Given the description of an element on the screen output the (x, y) to click on. 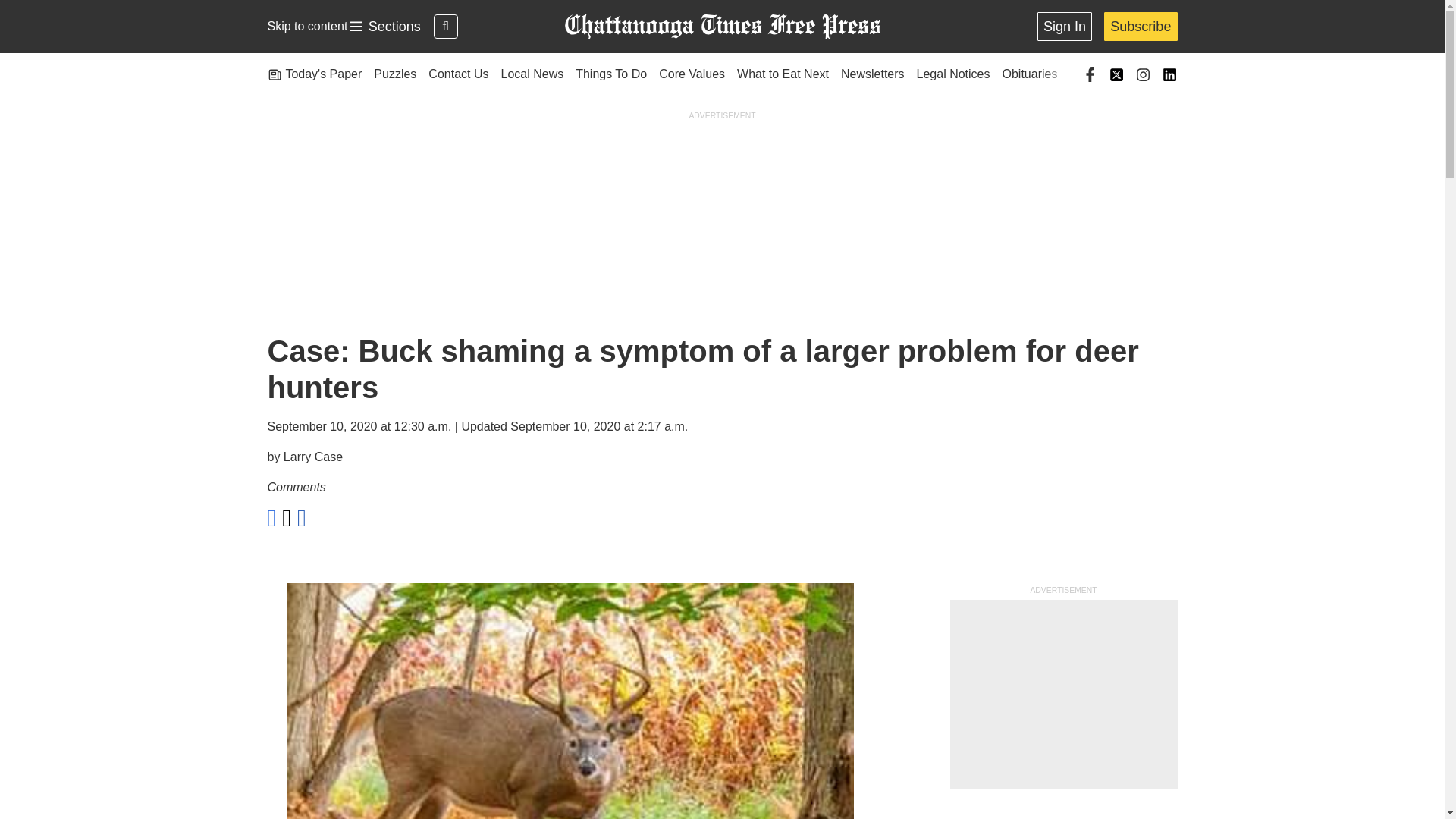
Times Free Press (383, 26)
Skip to content (721, 26)
